Given the description of an element on the screen output the (x, y) to click on. 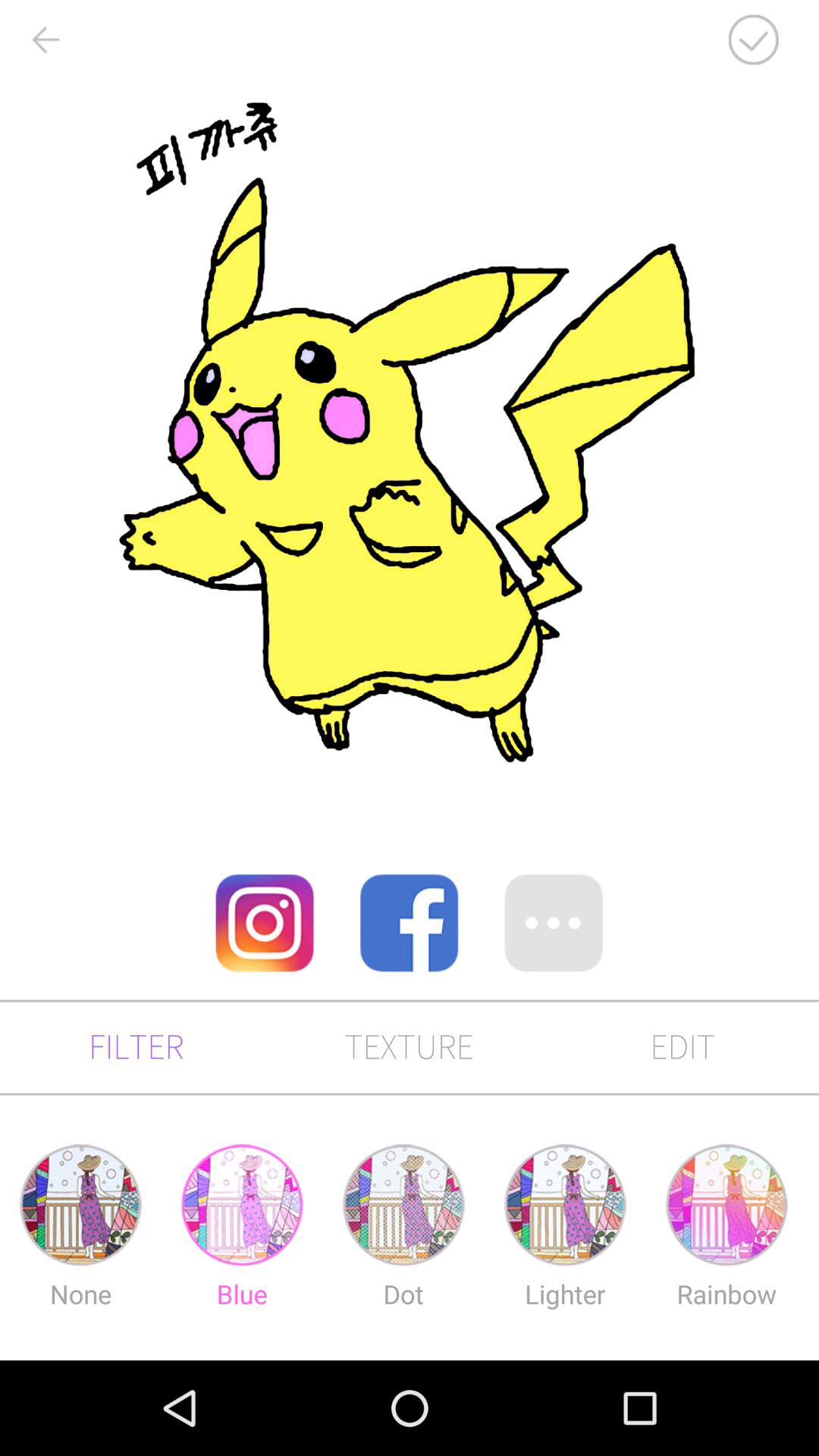
click item on the right (553, 922)
